Given the description of an element on the screen output the (x, y) to click on. 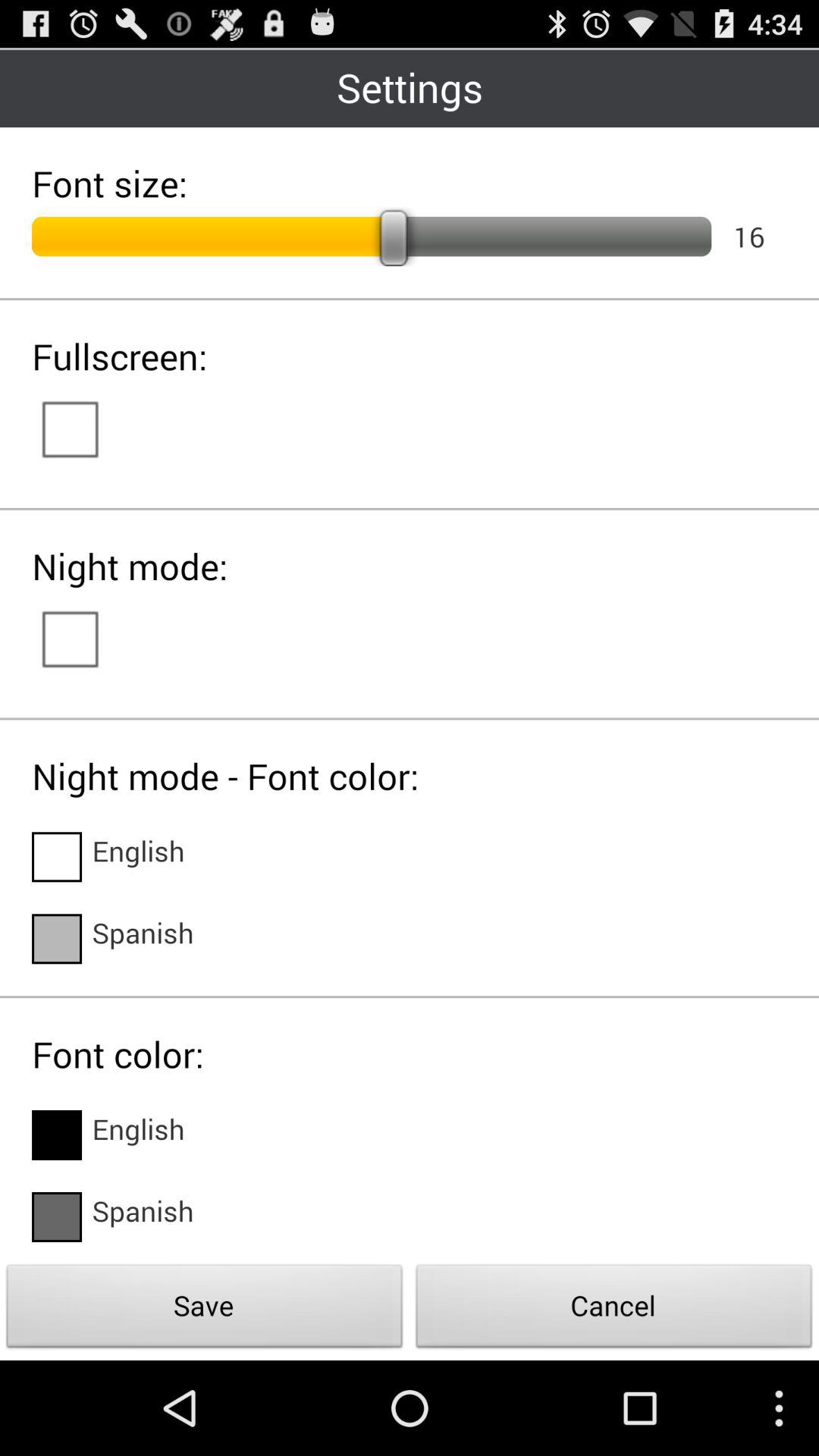
flip to the save (204, 1310)
